Given the description of an element on the screen output the (x, y) to click on. 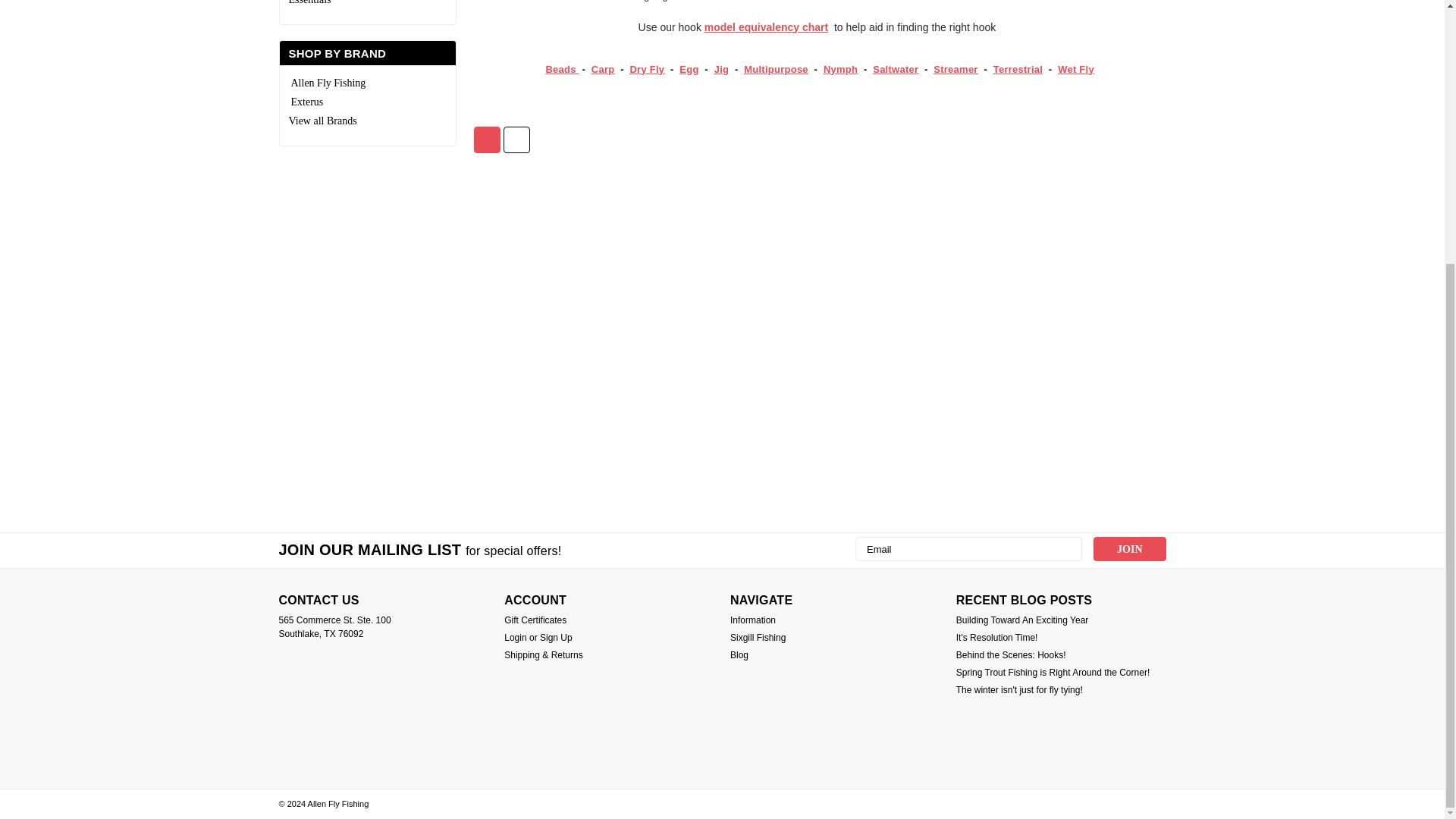
Join (1129, 549)
Toggle List View (516, 139)
Toggle Grid View (487, 139)
